Given the description of an element on the screen output the (x, y) to click on. 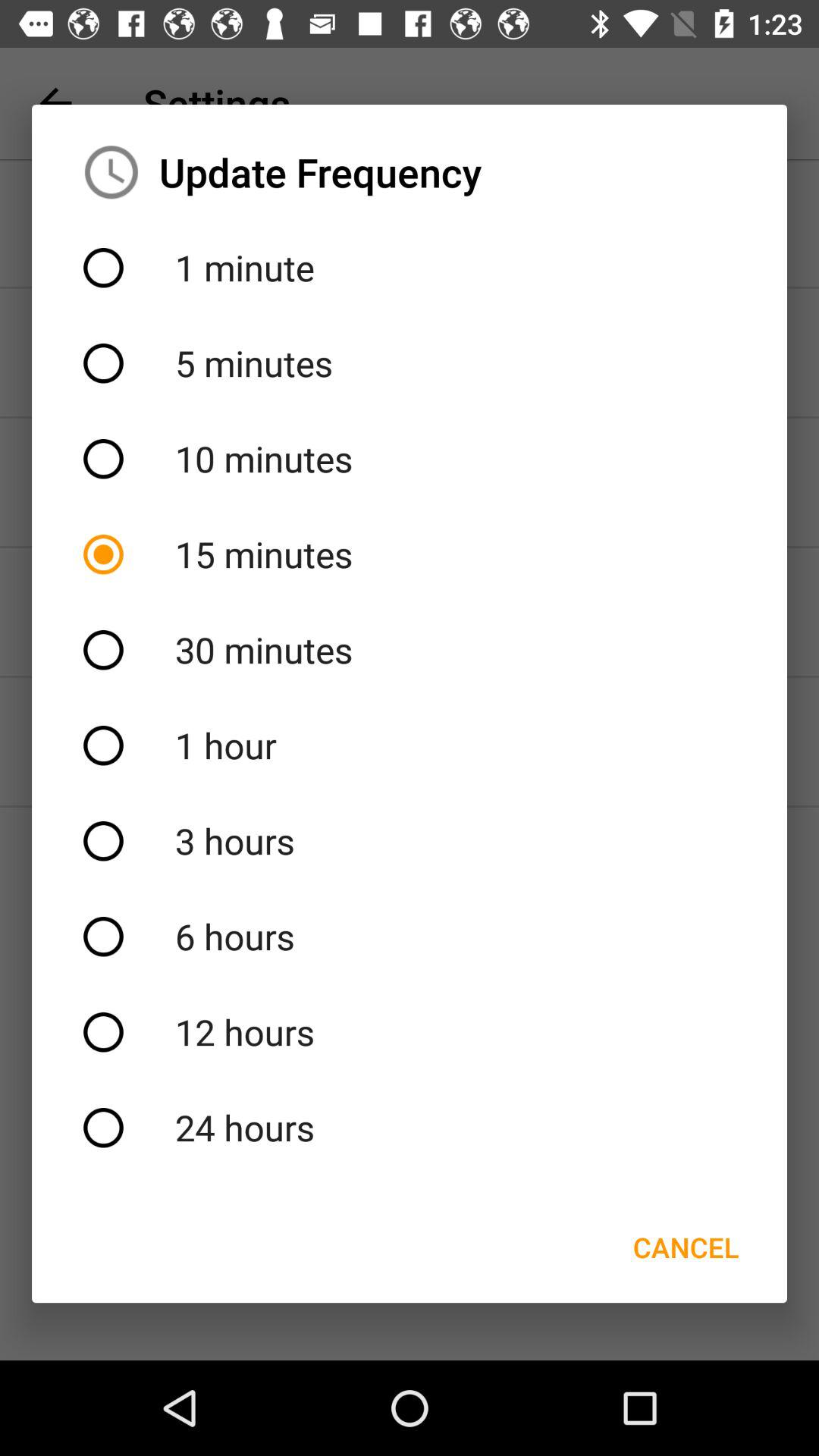
launch the item below 6 hours (409, 1032)
